Given the description of an element on the screen output the (x, y) to click on. 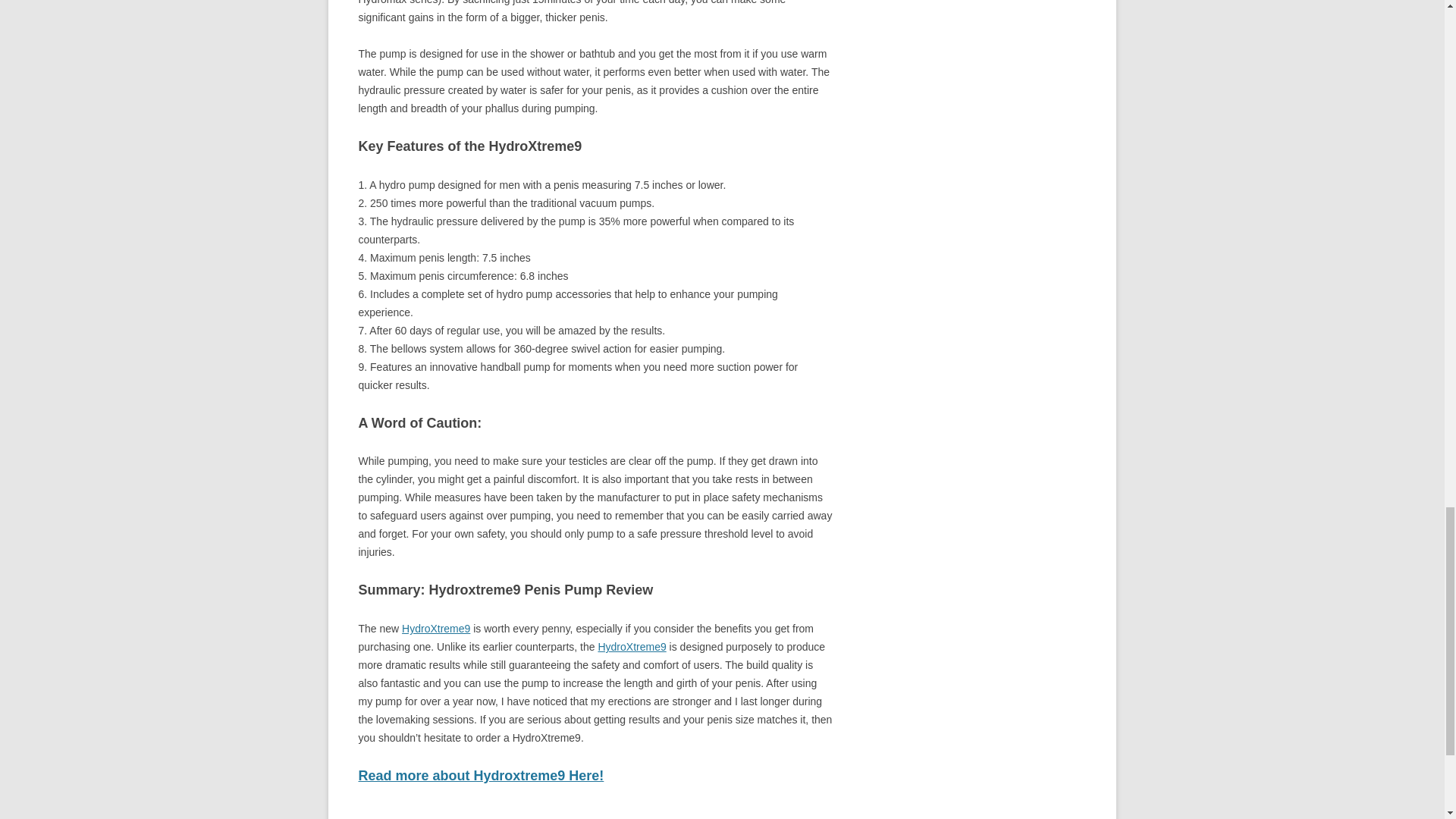
HydroXtreme9 (630, 646)
Read more about Hydroxtreme9 Here! (481, 775)
HydroXtreme9 (435, 628)
